Given the description of an element on the screen output the (x, y) to click on. 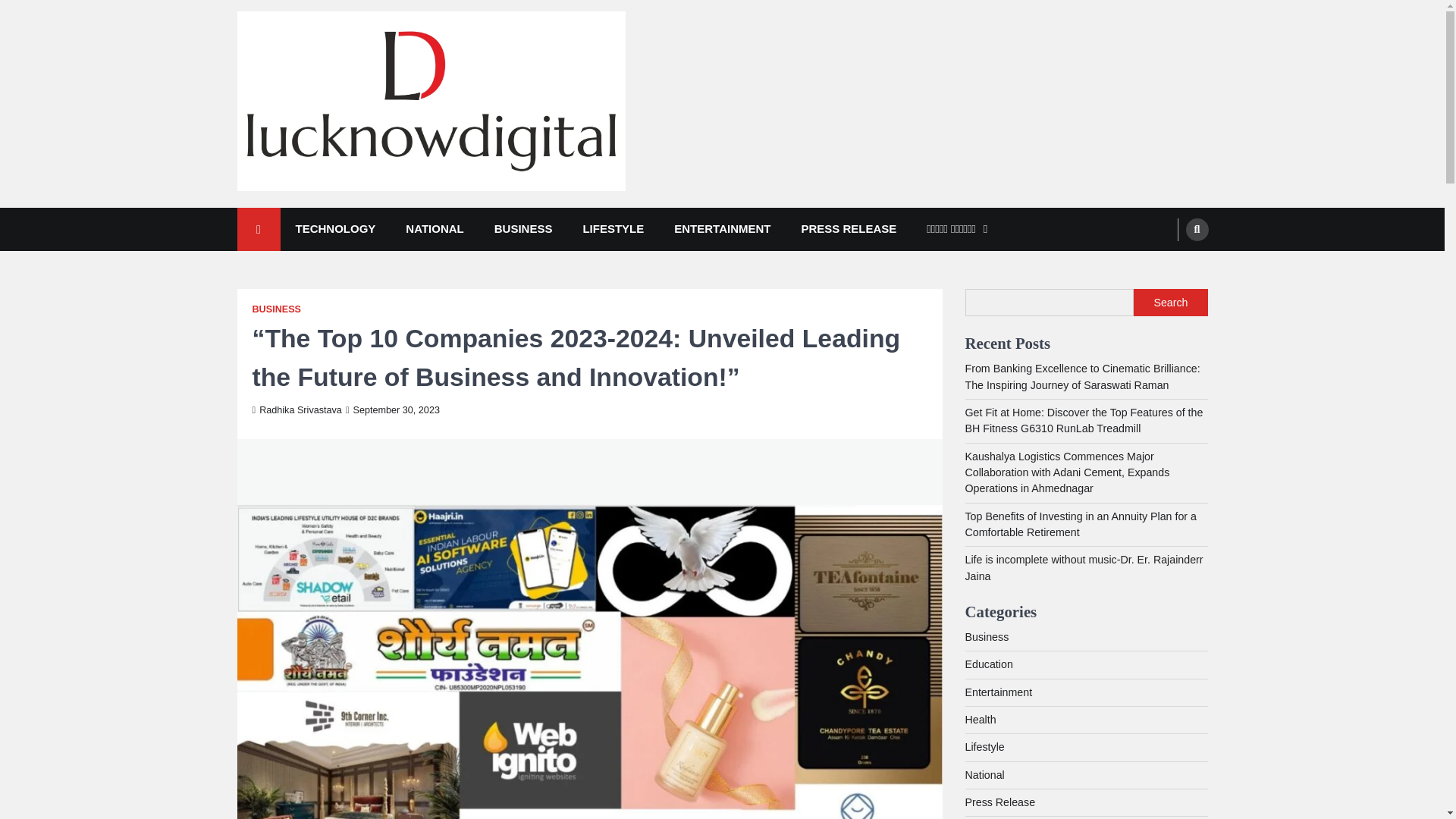
PRESS RELEASE (848, 229)
Lucknow Digital (327, 212)
LIFESTYLE (613, 229)
BUSINESS (523, 229)
September 30, 2023 (392, 409)
Radhika Srivastava (295, 409)
Search (1197, 229)
Search (1168, 265)
NATIONAL (434, 229)
BUSINESS (276, 309)
ENTERTAINMENT (722, 229)
TECHNOLOGY (336, 229)
Search (1170, 302)
